Given the description of an element on the screen output the (x, y) to click on. 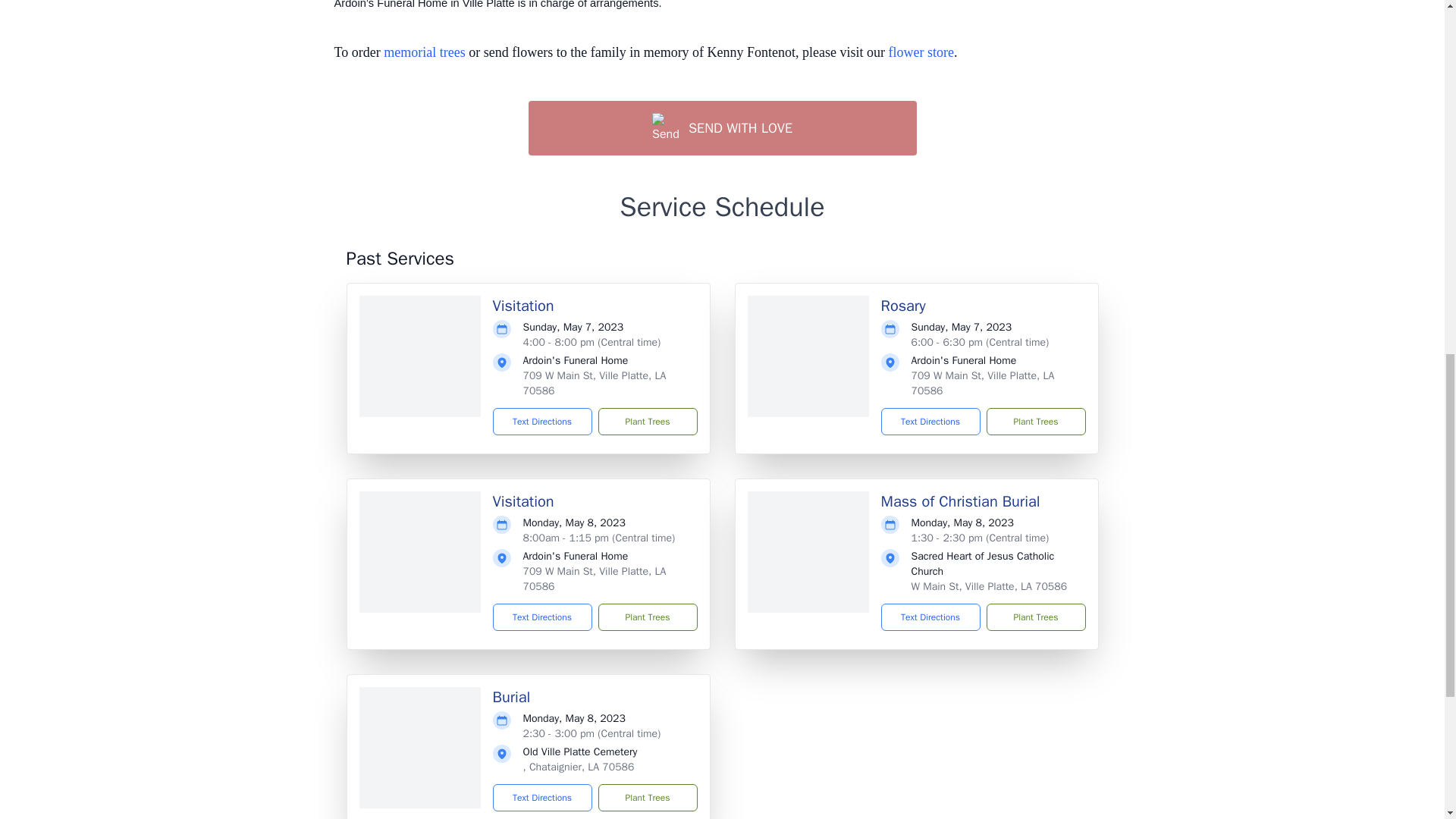
Text Directions (929, 420)
709 W Main St, Ville Platte, LA 70586 (594, 578)
SEND WITH LOVE (721, 127)
Plant Trees (1034, 420)
memorial trees (424, 52)
Plant Trees (646, 420)
709 W Main St, Ville Platte, LA 70586 (594, 383)
flower store (920, 52)
Text Directions (542, 616)
Plant Trees (646, 616)
W Main St, Ville Platte, LA 70586 (989, 585)
709 W Main St, Ville Platte, LA 70586 (982, 383)
Text Directions (542, 420)
